Given the description of an element on the screen output the (x, y) to click on. 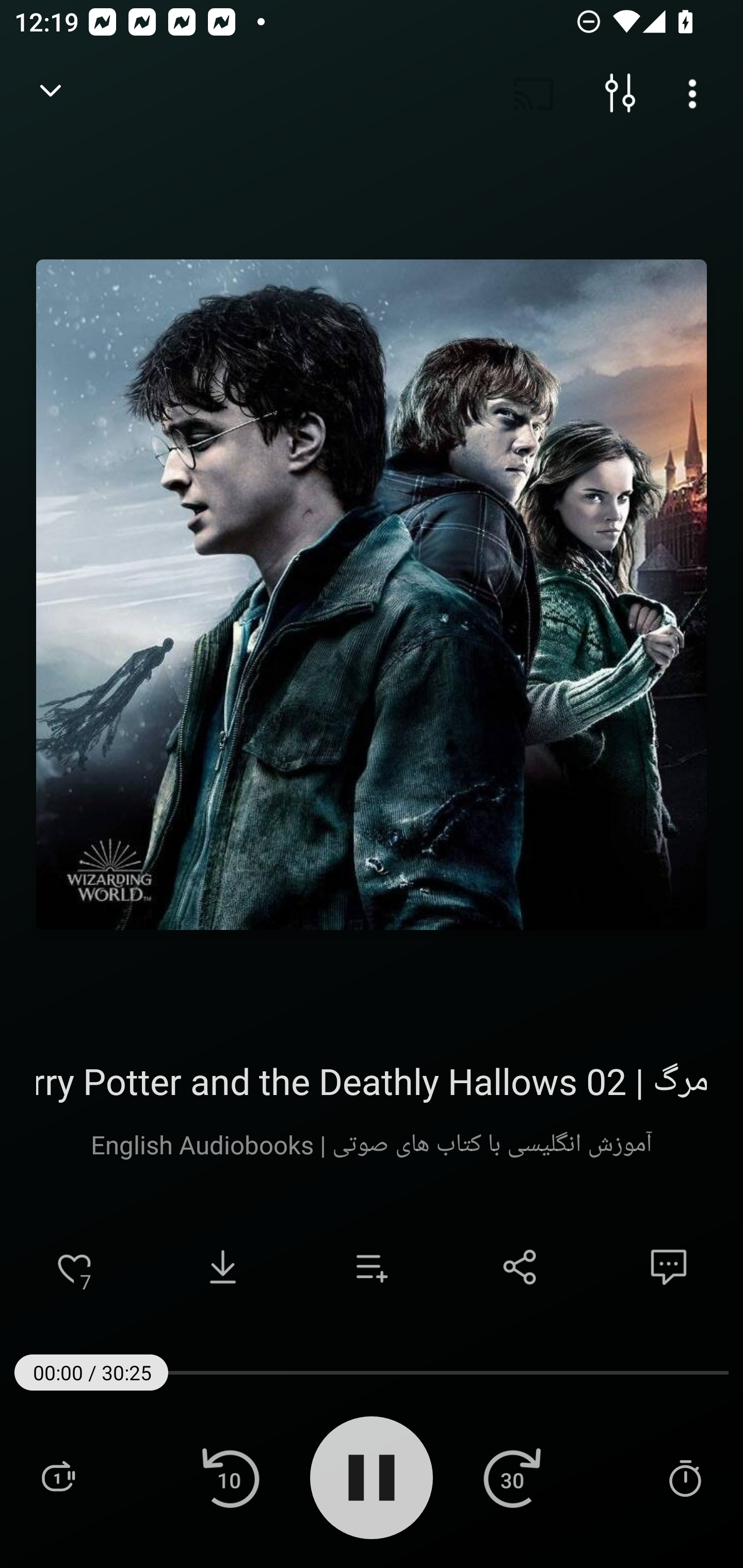
 Back (50, 94)
Comments (668, 1266)
Add to Favorites (73, 1266)
Share (519, 1266)
 Playlist (57, 1477)
Sleep Timer  (684, 1477)
